Given the description of an element on the screen output the (x, y) to click on. 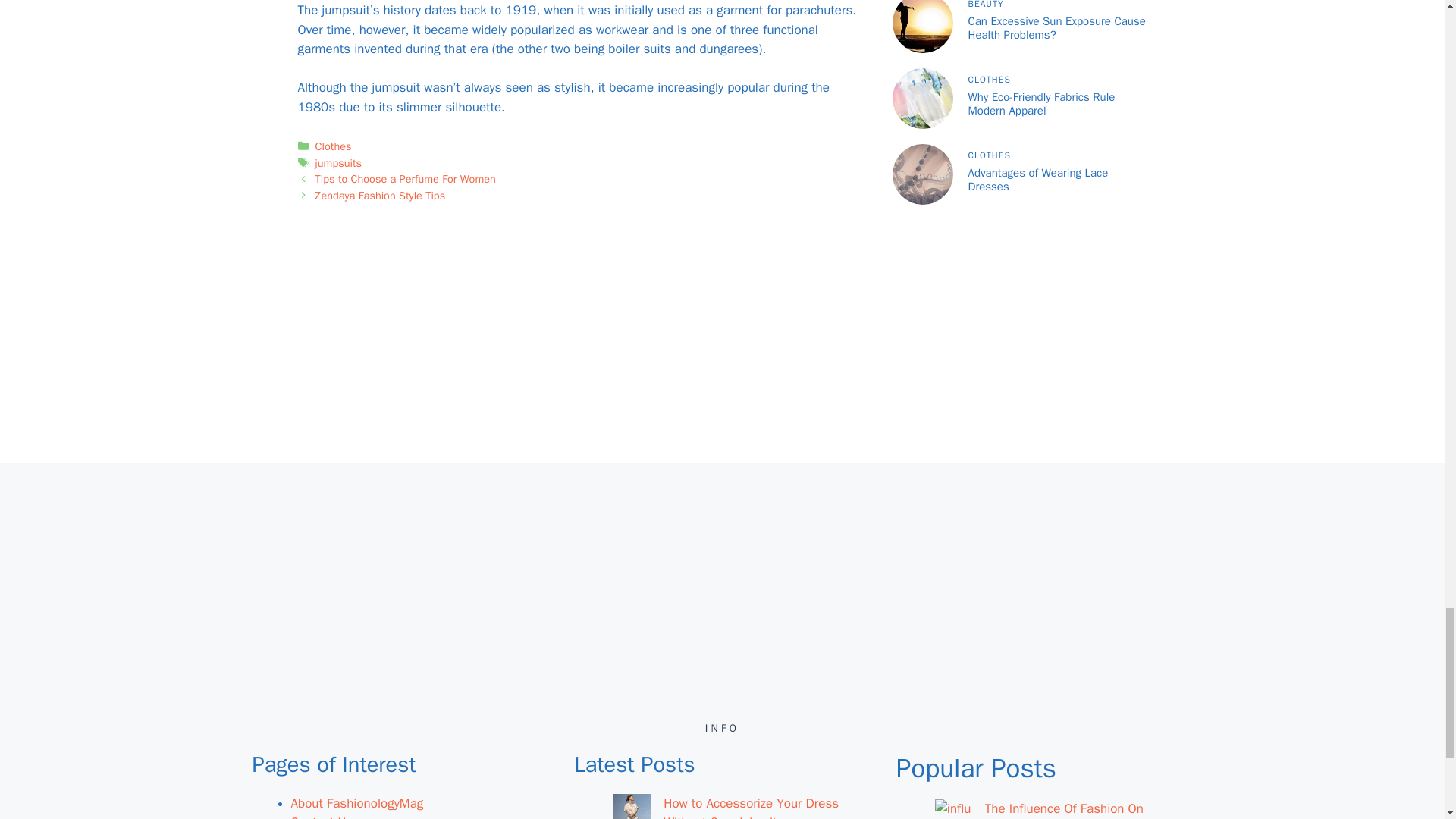
Contact Us (322, 816)
Zendaya Fashion Style Tips (380, 195)
jumpsuits (338, 162)
Clothes (333, 146)
Tips to Choose a Perfume For Women (405, 178)
How to Accessorize Your Dress Without Overdoing it (750, 807)
About FashionologyMag (357, 803)
